Given the description of an element on the screen output the (x, y) to click on. 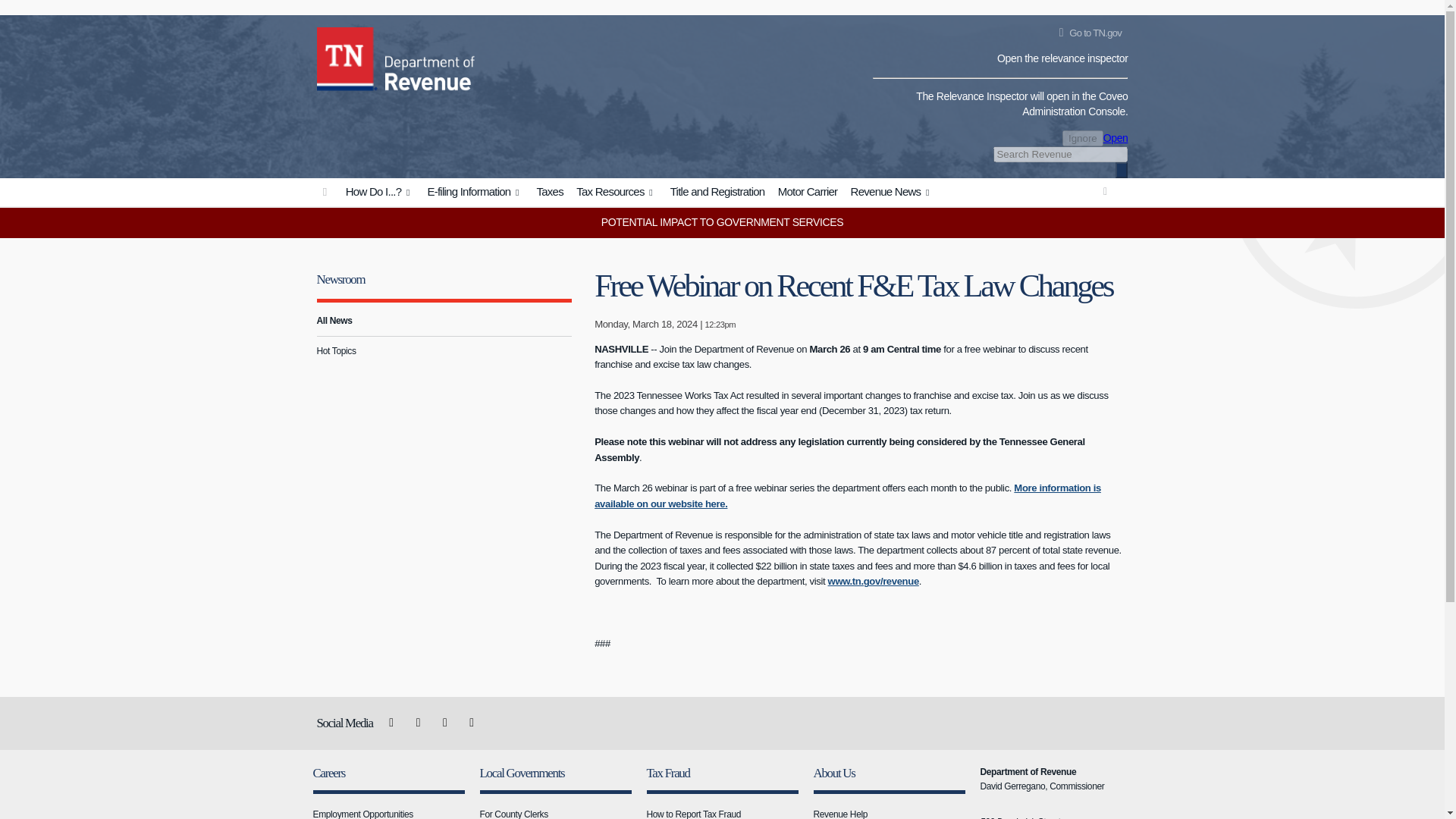
Title and Registration (717, 192)
Go to Revenue (324, 192)
Go to TN.gov (1086, 33)
Home (347, 56)
Print This Page (1105, 191)
How Do I...? (379, 192)
E-filing Information (475, 192)
Tax Resources (616, 192)
Revenue News (892, 192)
Motor Carrier (808, 192)
Newsroom (341, 278)
Taxes (549, 192)
All News (444, 320)
